Given the description of an element on the screen output the (x, y) to click on. 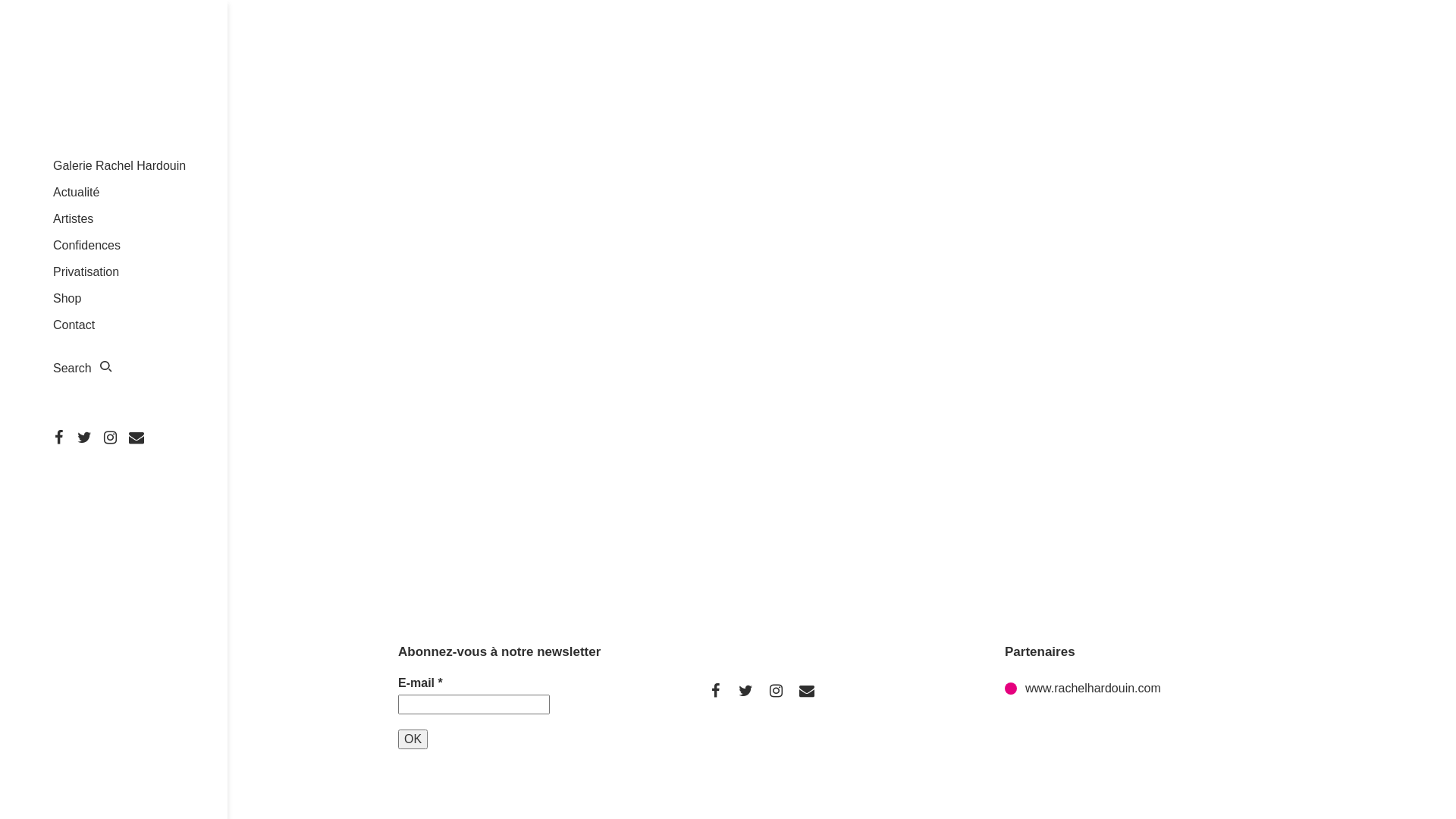
Galerie Rachel Hardouin Element type: text (119, 165)
OK Element type: text (412, 739)
Shop Element type: text (67, 297)
Contact Element type: text (73, 324)
Artistes Element type: text (73, 218)
Privatisation Element type: text (86, 271)
Confidences Element type: text (86, 244)
E-mail Element type: hover (473, 704)
www.rachelhardouin.com Element type: text (1082, 688)
